Given the description of an element on the screen output the (x, y) to click on. 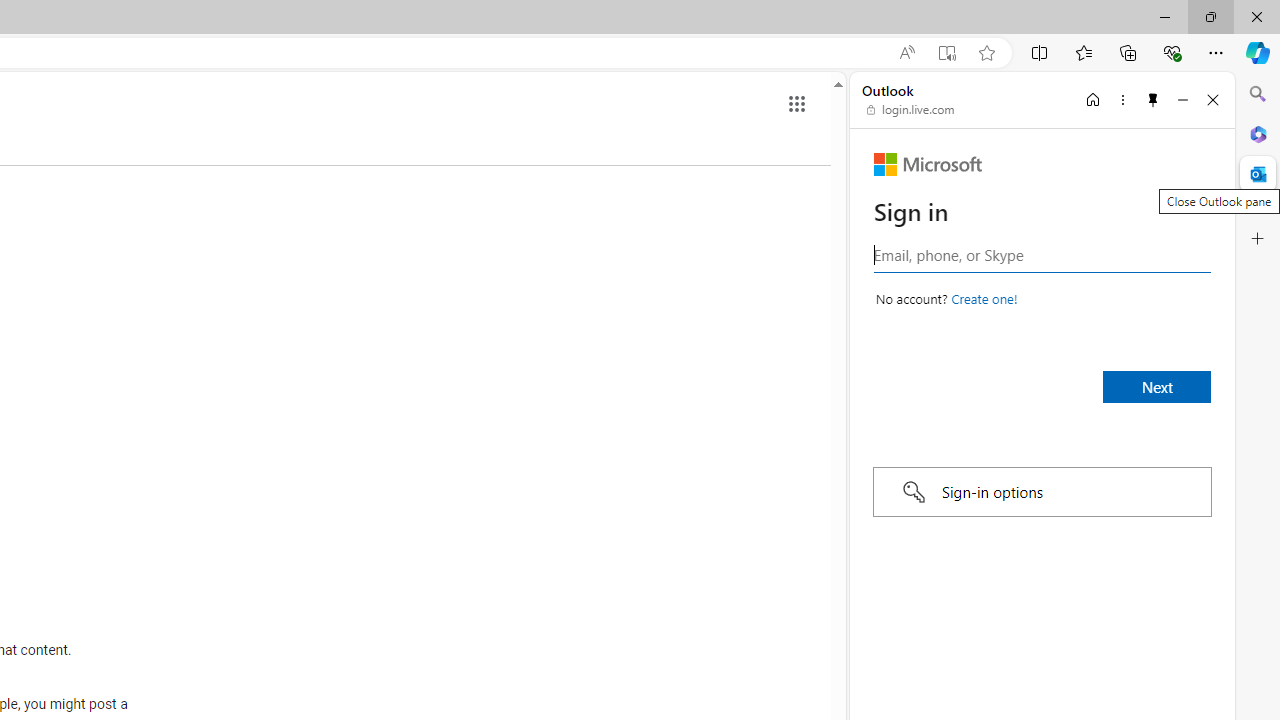
Enter your email, phone, or Skype. (1042, 254)
